Given the description of an element on the screen output the (x, y) to click on. 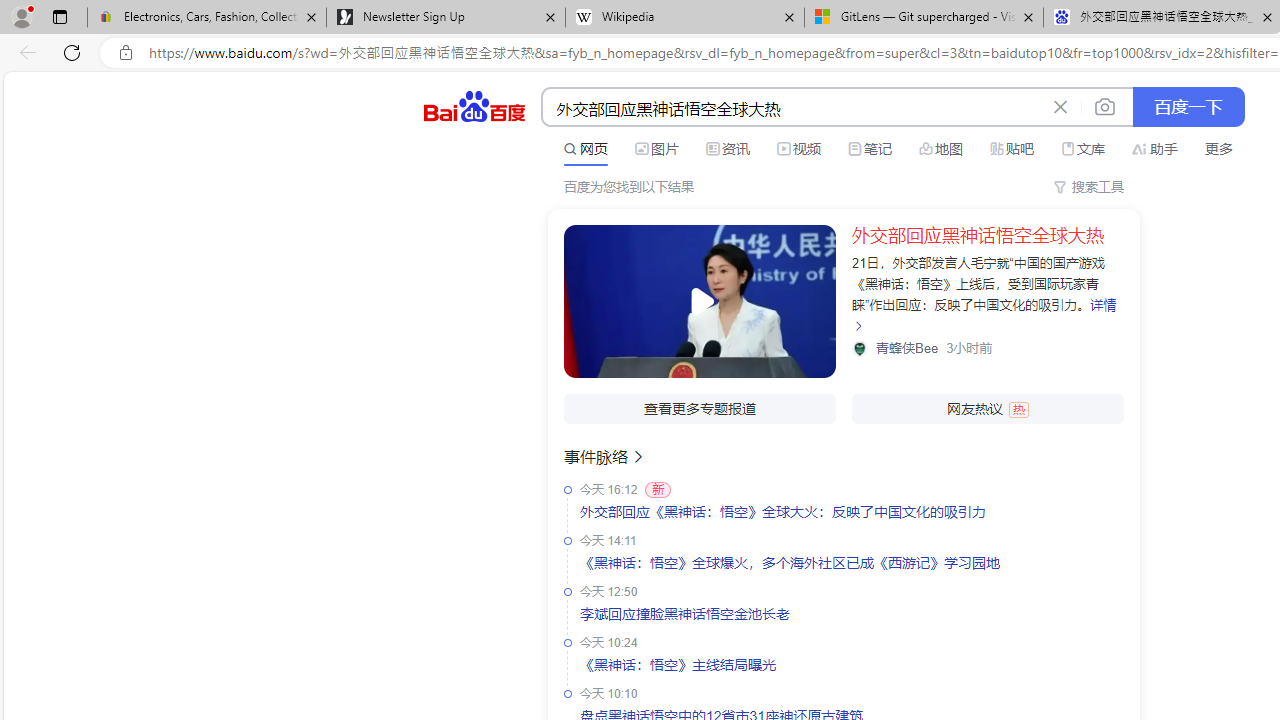
AutomationID: kw (793, 107)
